Given the description of an element on the screen output the (x, y) to click on. 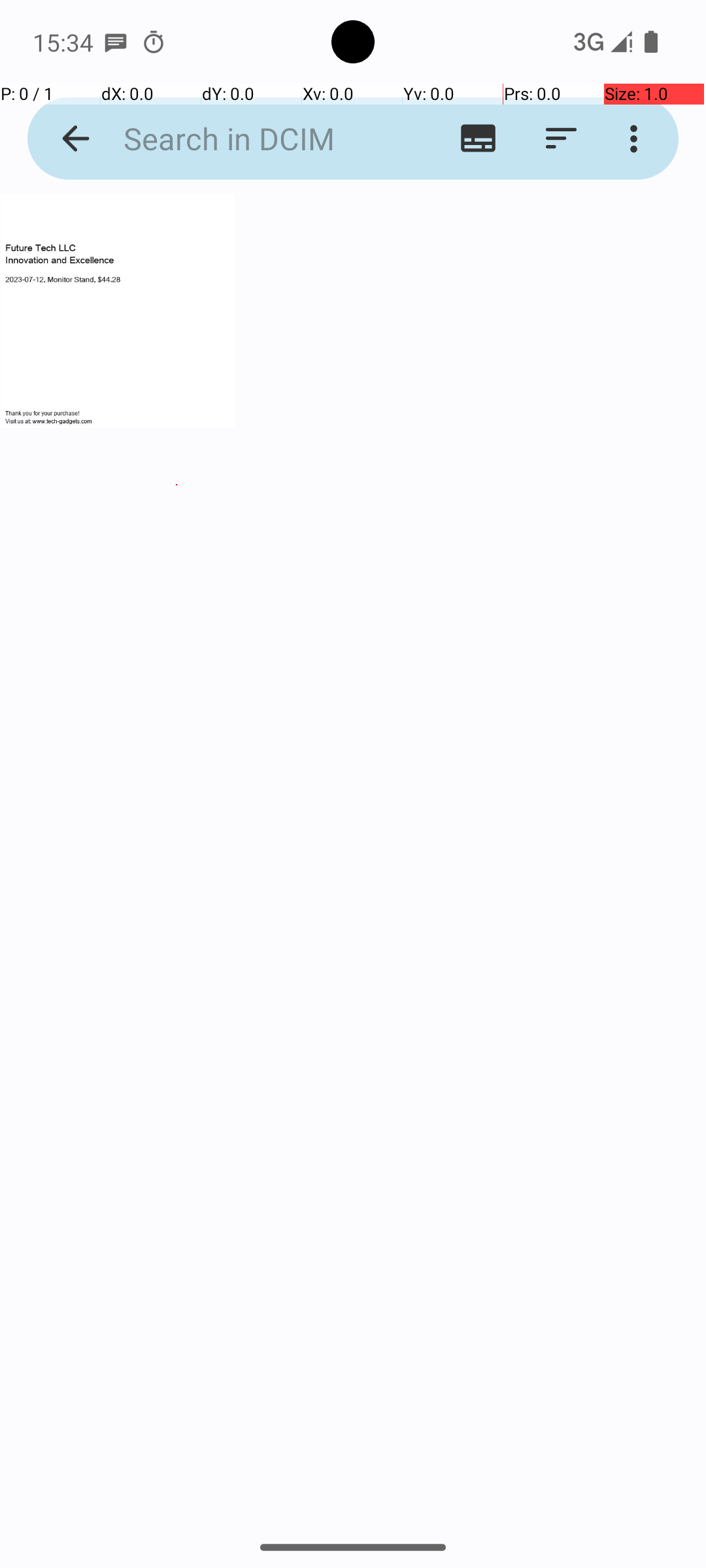
Search in DCIM Element type: android.widget.EditText (252, 138)
